Given the description of an element on the screen output the (x, y) to click on. 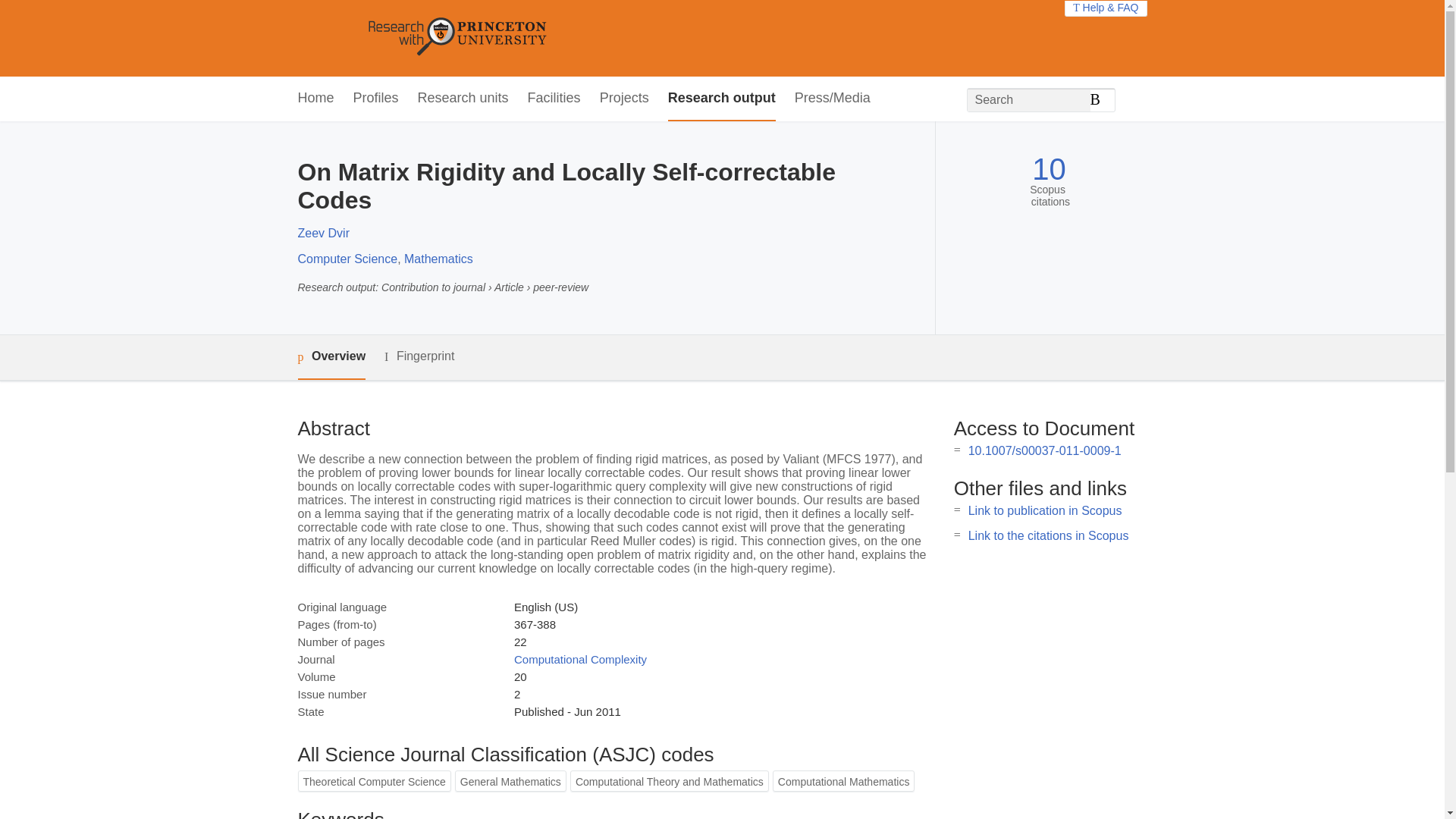
Princeton University Home (567, 38)
10 (1048, 169)
Computational Complexity (579, 658)
Computer Science (347, 258)
Research units (462, 98)
Profiles (375, 98)
Research output (722, 98)
Mathematics (438, 258)
Projects (624, 98)
